Given the description of an element on the screen output the (x, y) to click on. 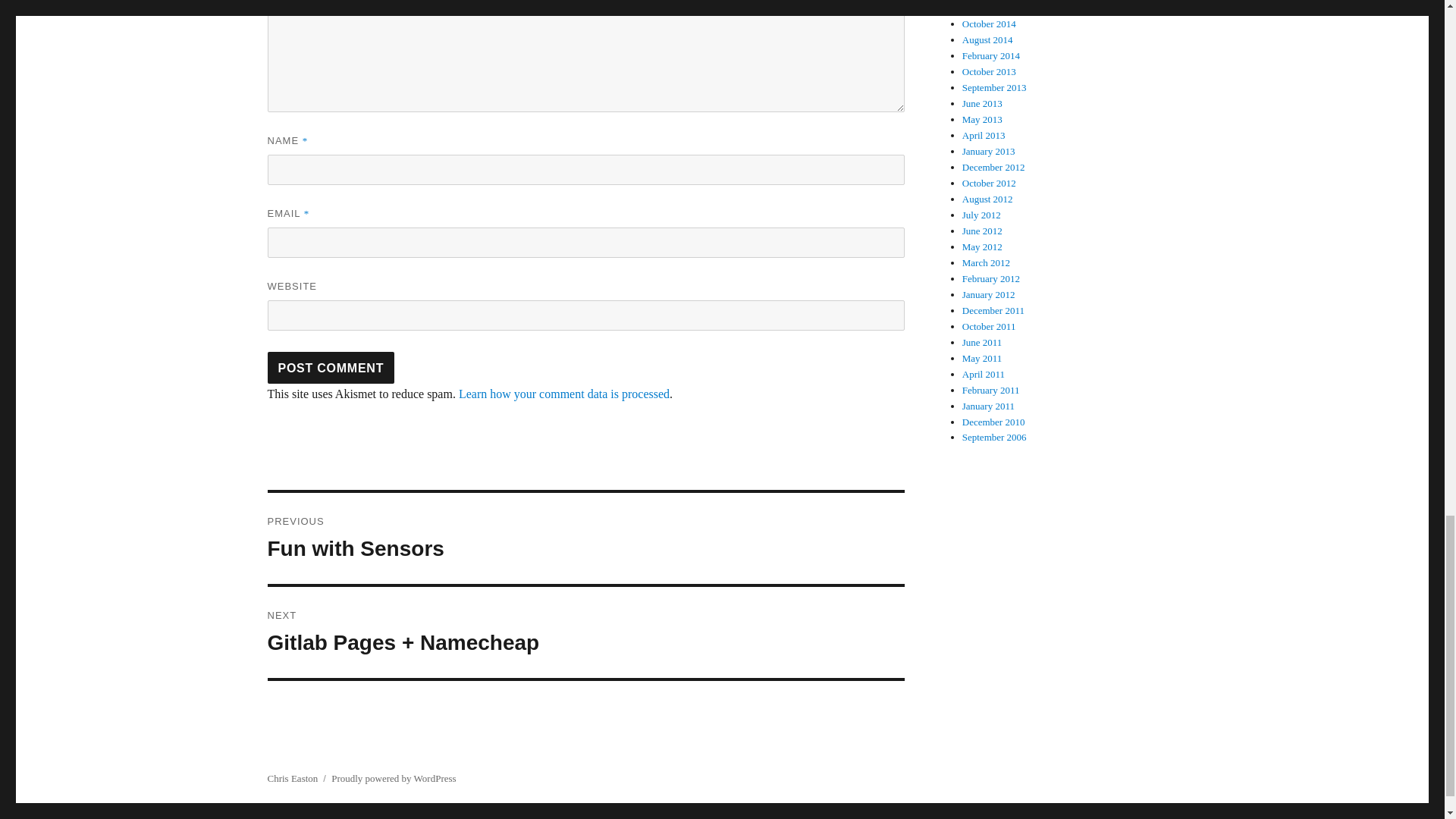
Post Comment (330, 368)
Post Comment (330, 368)
Learn how your comment data is processed (563, 393)
